Given the description of an element on the screen output the (x, y) to click on. 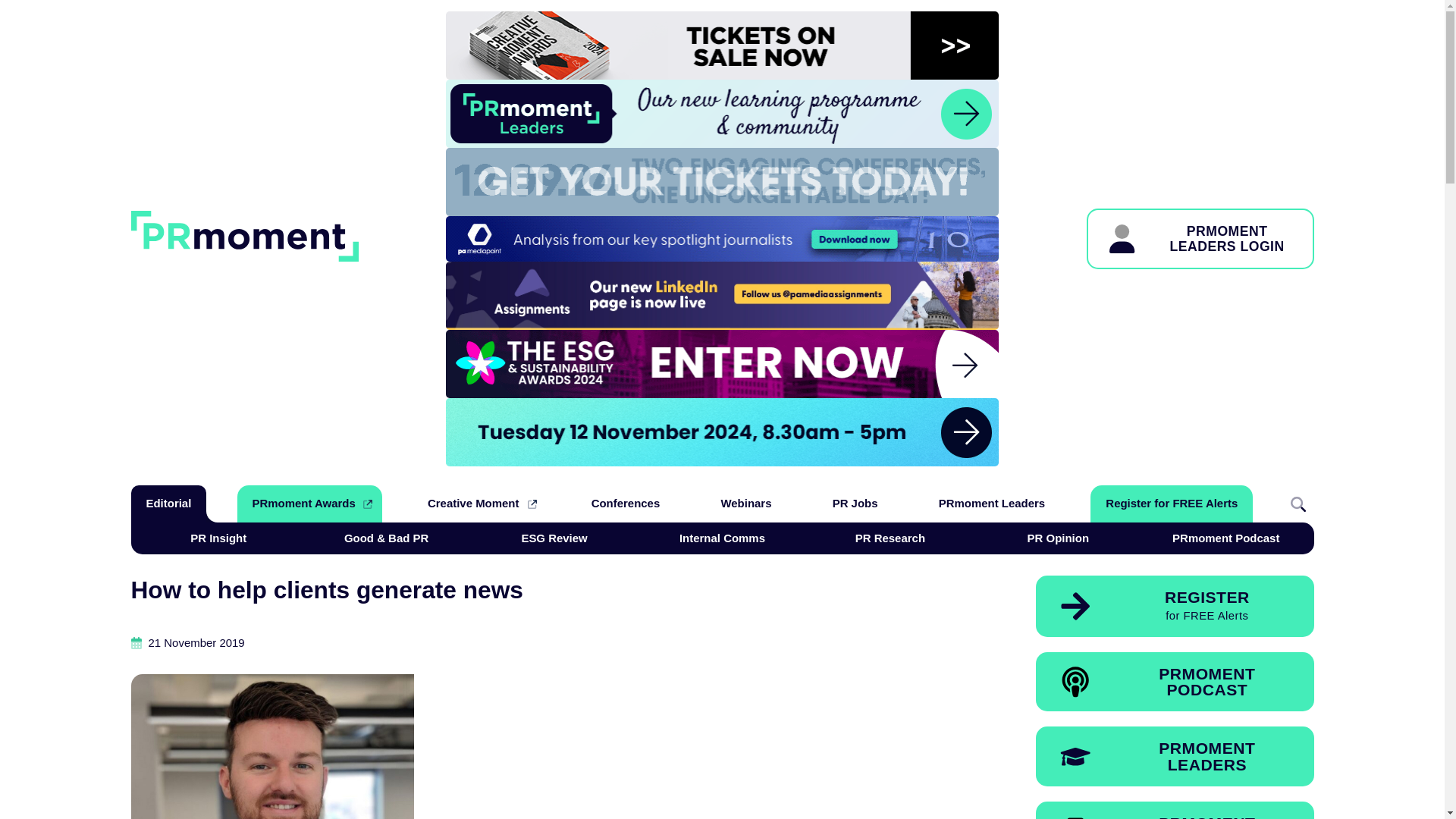
PRmoment Leaders (1174, 681)
Creative Moment (991, 503)
ESG Review (479, 503)
PR Insight (553, 538)
PR Research (218, 538)
PR Opinion (1174, 755)
PR Jobs (889, 538)
